Given the description of an element on the screen output the (x, y) to click on. 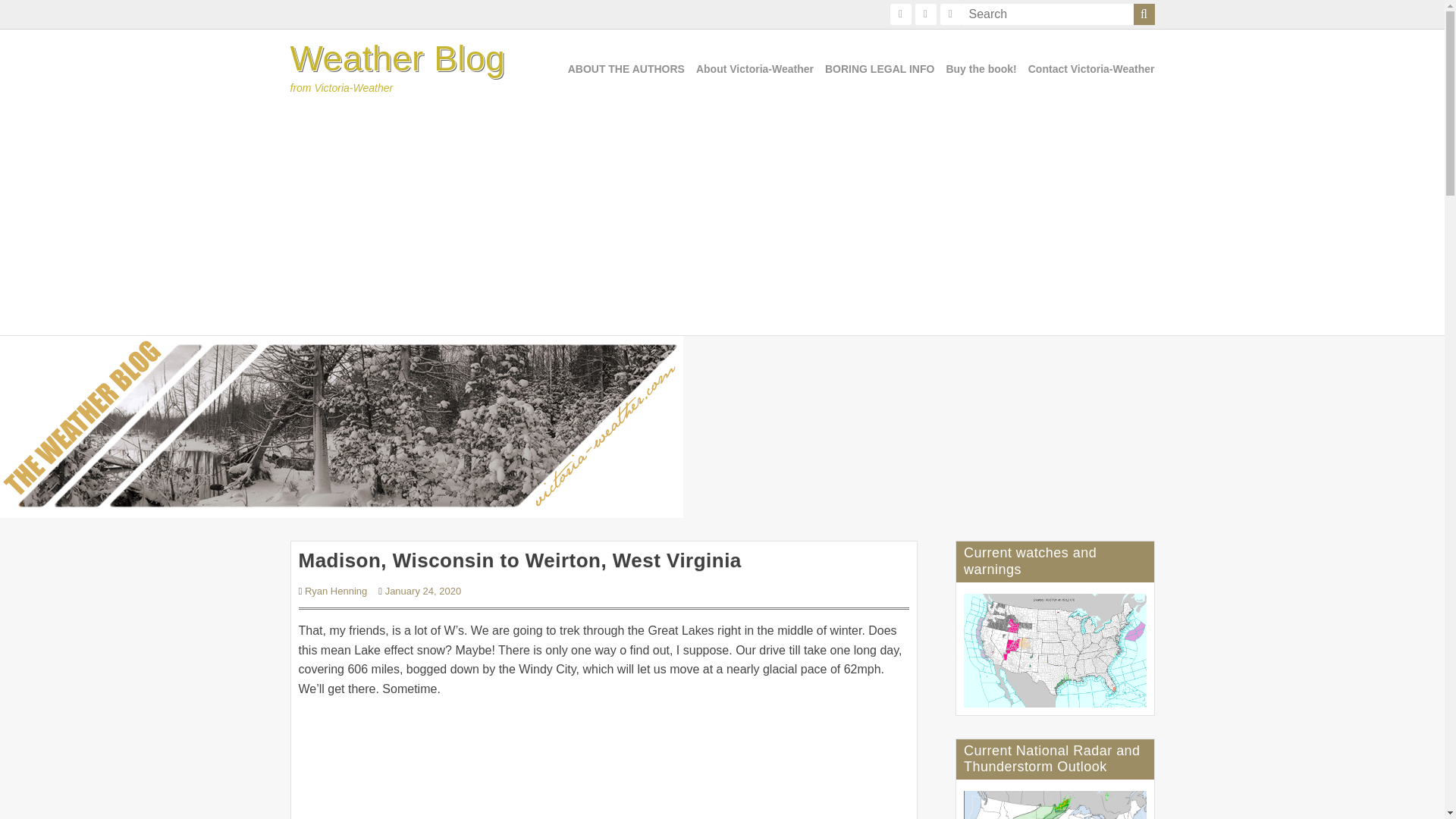
Ryan Henning (335, 591)
Buy the book! (980, 69)
January 24, 2020 (423, 591)
About Victoria-Weather (754, 69)
ABOUT THE AUTHORS (625, 69)
Contact Victoria-Weather (1090, 69)
BORING LEGAL INFO (879, 69)
Weather Blog (397, 58)
